Given the description of an element on the screen output the (x, y) to click on. 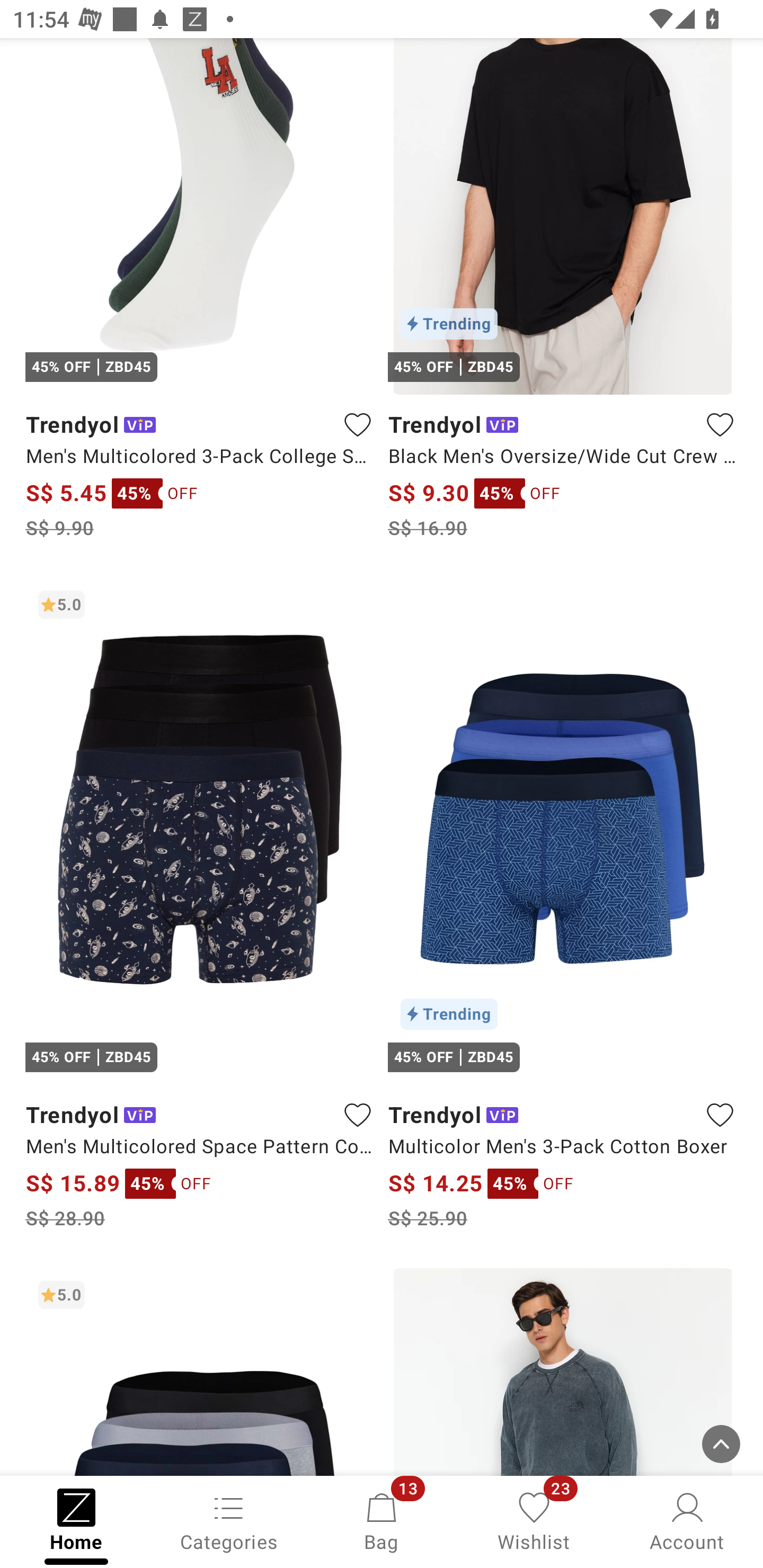
5.0 (200, 1371)
Categories (228, 1519)
Bag, 13 new notifications Bag (381, 1519)
Wishlist, 23 new notifications Wishlist (533, 1519)
Account (686, 1519)
